Given the description of an element on the screen output the (x, y) to click on. 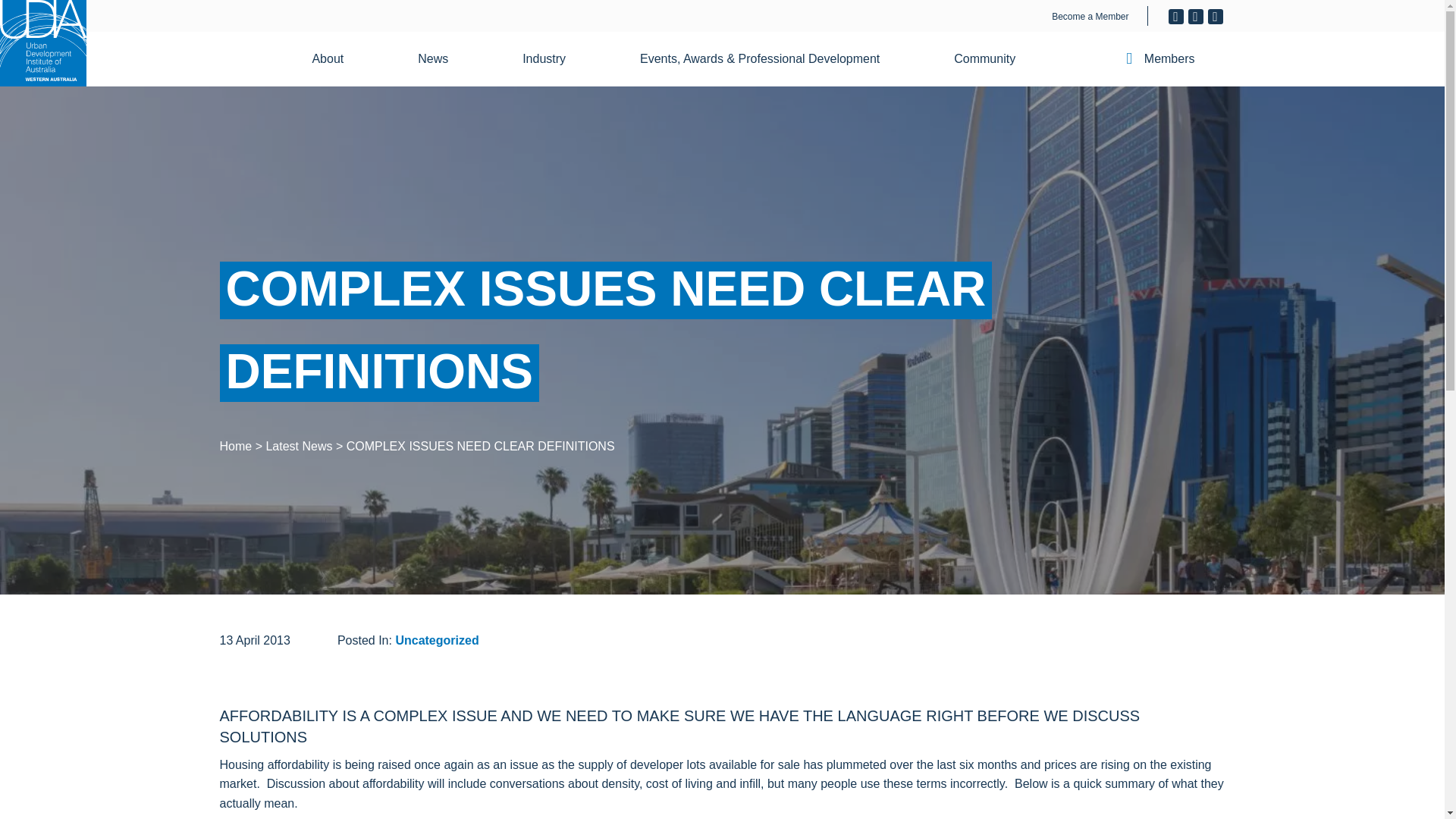
Industry (553, 59)
Logo (42, 43)
News (442, 59)
About (336, 59)
Become a Member (1089, 16)
